Given the description of an element on the screen output the (x, y) to click on. 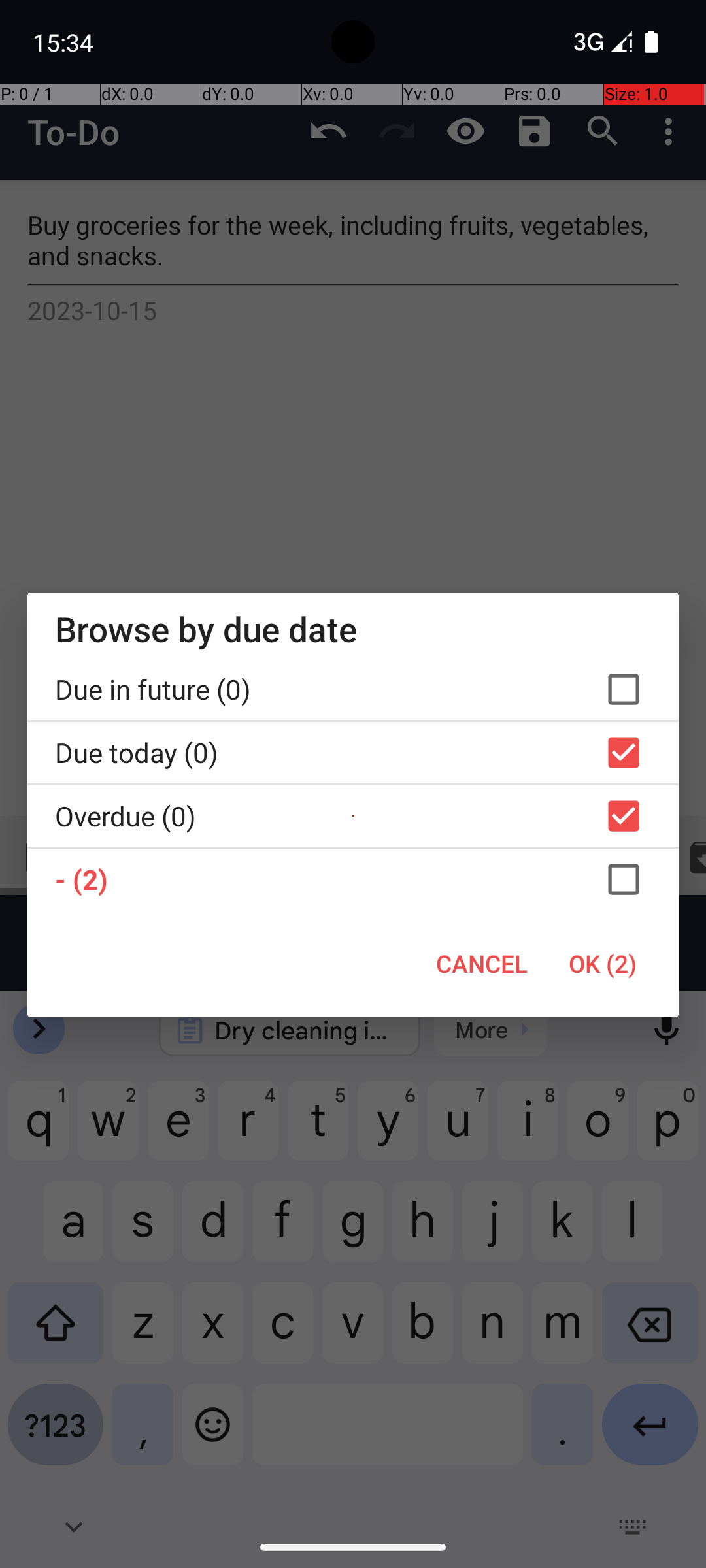
Browse by due date Element type: android.widget.TextView (352, 628)
Due in future (0) Element type: android.widget.CheckedTextView (352, 688)
Due today (0) Element type: android.widget.CheckedTextView (352, 752)
Overdue (0) Element type: android.widget.CheckedTextView (352, 815)
- (2) Element type: android.widget.CheckedTextView (352, 879)
OK (2) Element type: android.widget.Button (602, 963)
